Given the description of an element on the screen output the (x, y) to click on. 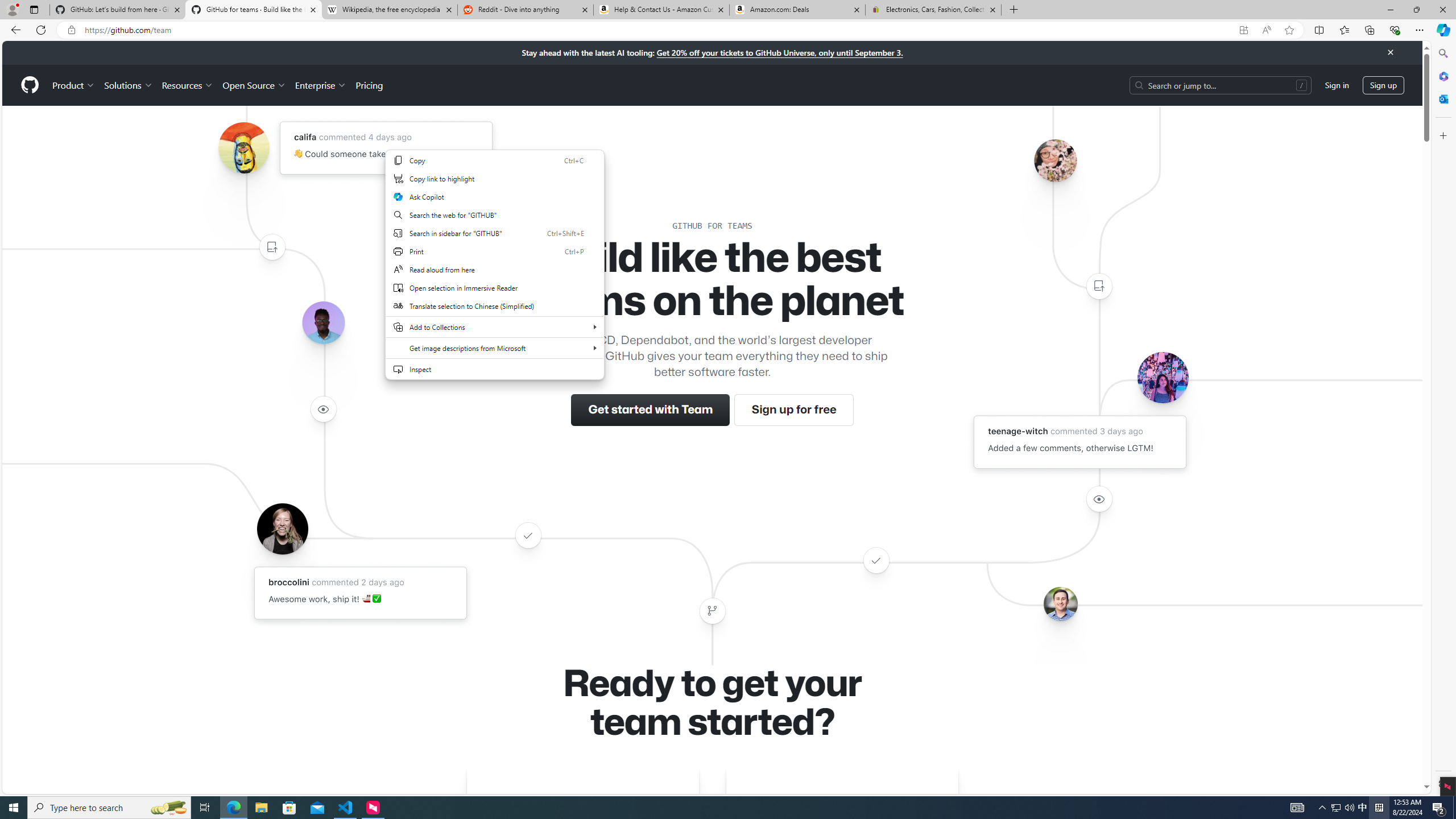
Avatar of the user benbalter (1059, 604)
Pricing (368, 84)
Inspect (494, 369)
Open Source (254, 84)
Class: color-fg-muted width-full (711, 610)
Sign up for free (793, 409)
Search in sidebar for "GITHUB" (494, 233)
Search the web for "GITHUB" (494, 214)
Print (494, 251)
Translate selection to Chinese (Simplified) (494, 305)
